Given the description of an element on the screen output the (x, y) to click on. 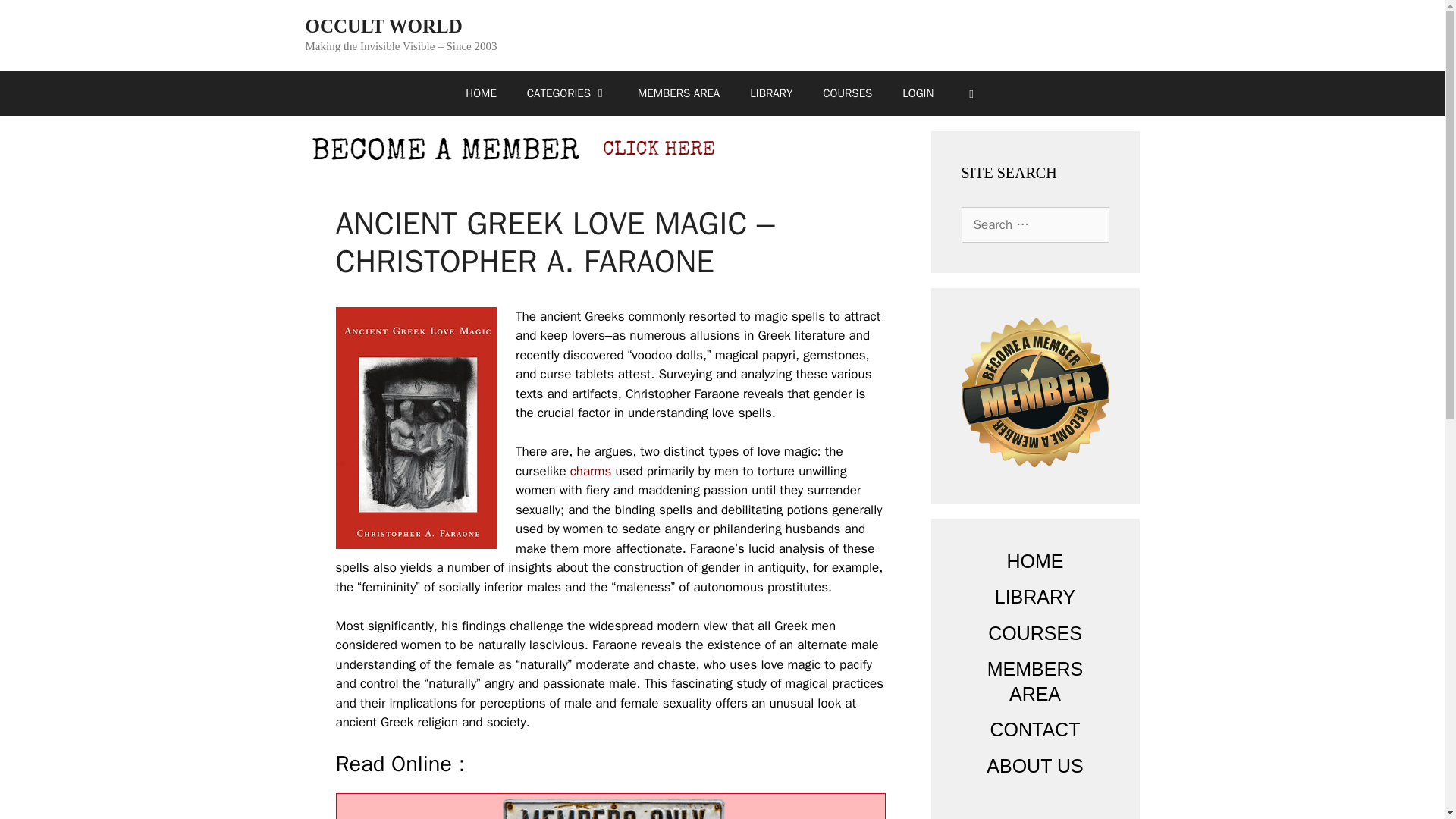
OCCULT WORLD (382, 25)
HOME (480, 92)
CATEGORIES (567, 92)
Search for: (1034, 224)
